Given the description of an element on the screen output the (x, y) to click on. 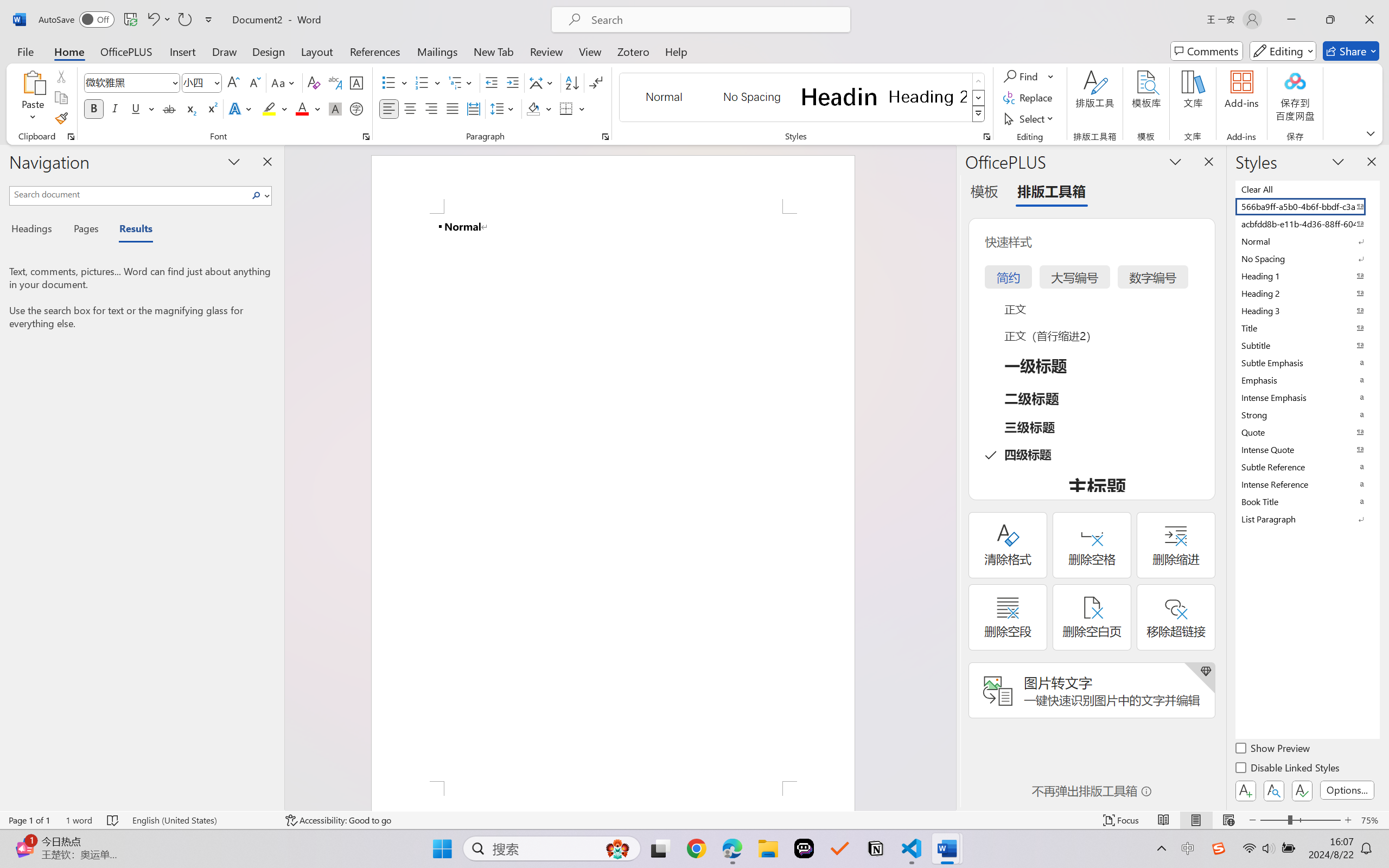
Paste (33, 81)
Help (675, 51)
Customize Quick Access Toolbar (208, 19)
Mailings (437, 51)
Insert (182, 51)
Repeat Text Fill Effect (184, 19)
Layout (316, 51)
Bold (94, 108)
Zoom In (1348, 819)
Minimize (1291, 19)
Align Left (388, 108)
Find (1029, 75)
